Given the description of an element on the screen output the (x, y) to click on. 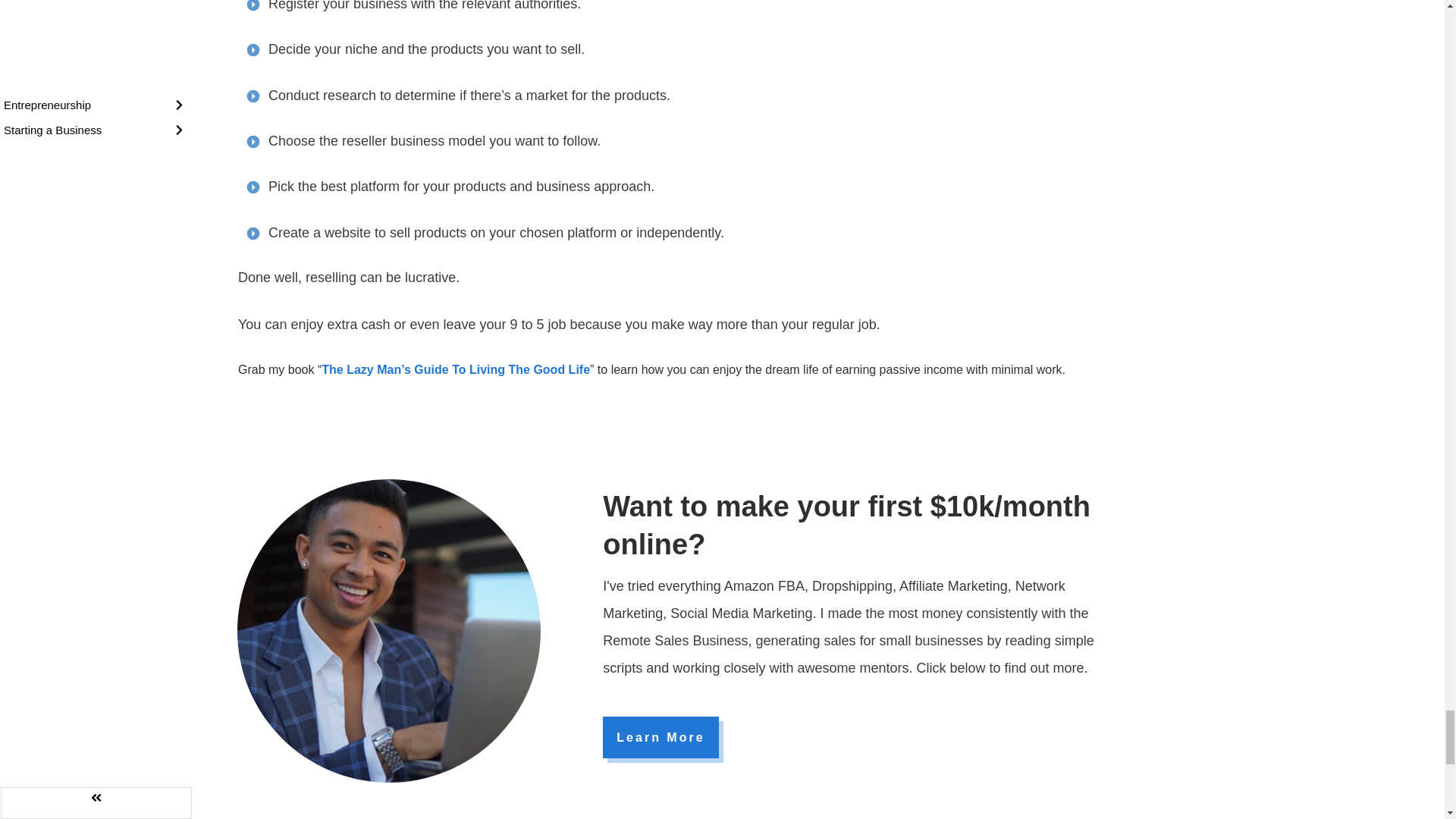
mike-vestil-blog (388, 630)
